Given the description of an element on the screen output the (x, y) to click on. 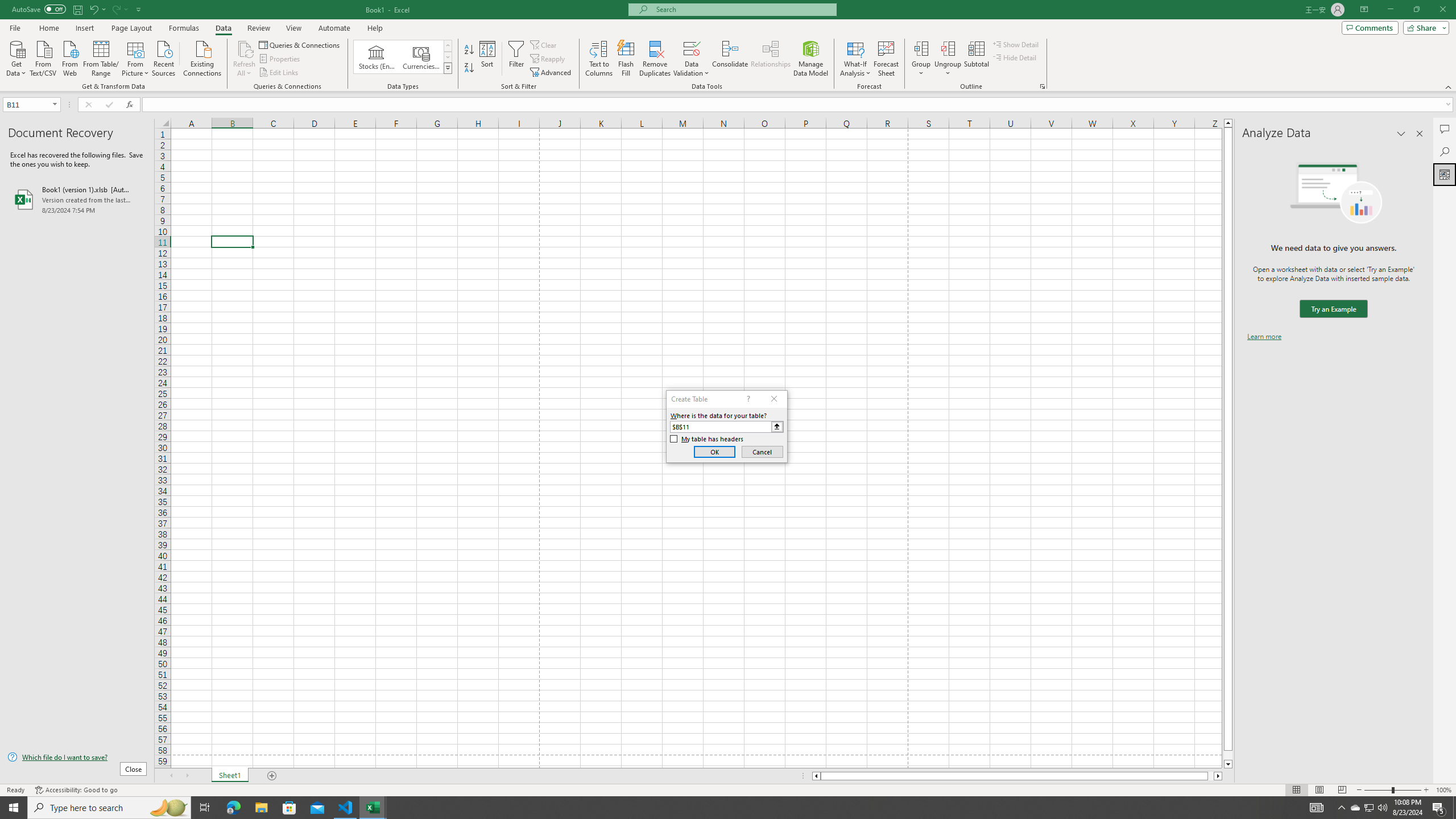
From Table/Range (100, 57)
Reapply (548, 58)
From Web (69, 57)
Text to Columns... (598, 58)
Show Detail (1016, 44)
What-If Analysis (855, 58)
Learn more (1264, 336)
